Given the description of an element on the screen output the (x, y) to click on. 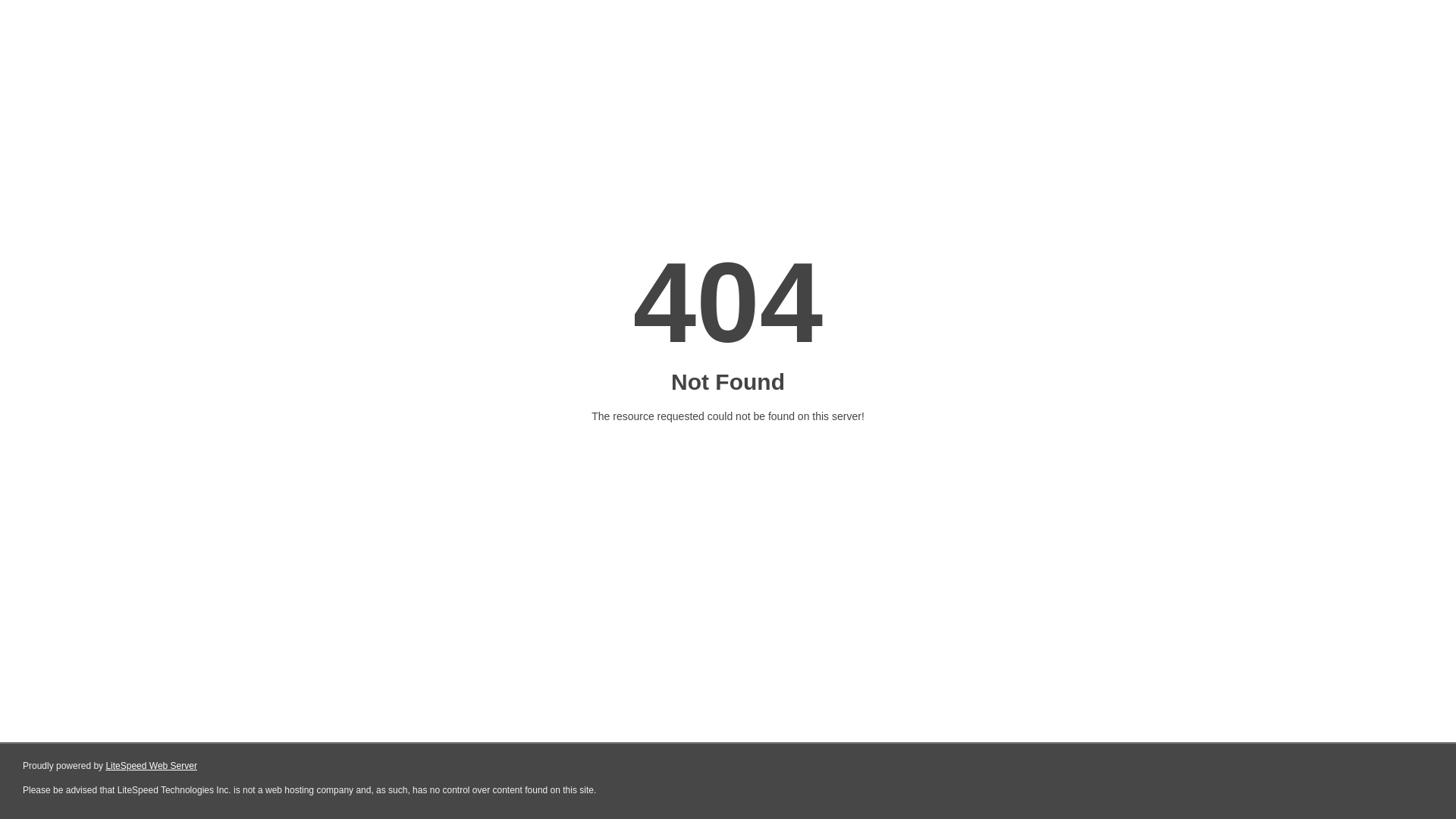
LiteSpeed Web Server Element type: text (151, 765)
